Given the description of an element on the screen output the (x, y) to click on. 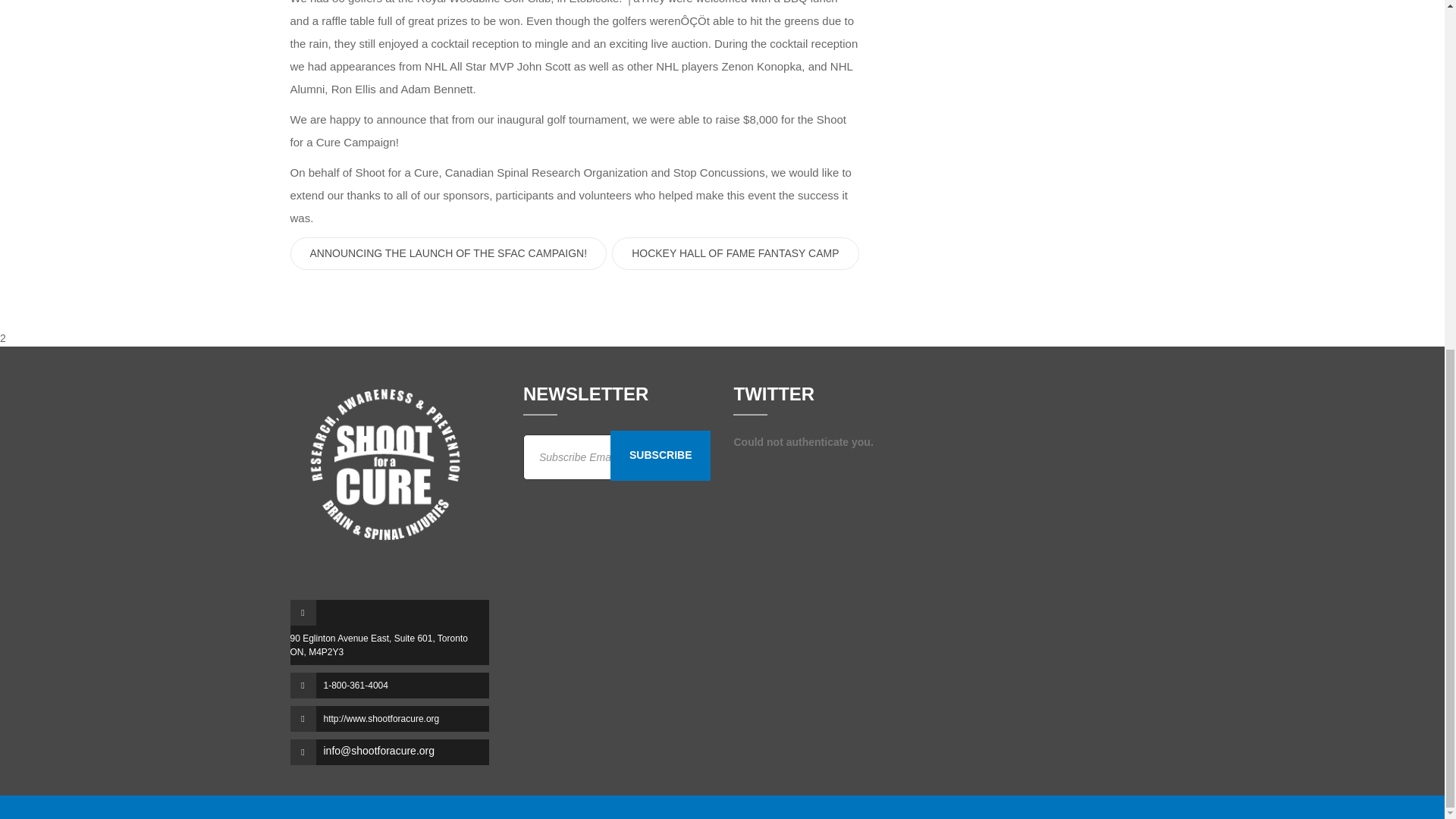
SUBSCRIBE (660, 455)
HOCKEY HALL OF FAME FANTASY CAMP (735, 252)
SUBSCRIBE (660, 455)
ANNOUNCING THE LAUNCH OF THE SFAC CAMPAIGN! (448, 252)
